Given the description of an element on the screen output the (x, y) to click on. 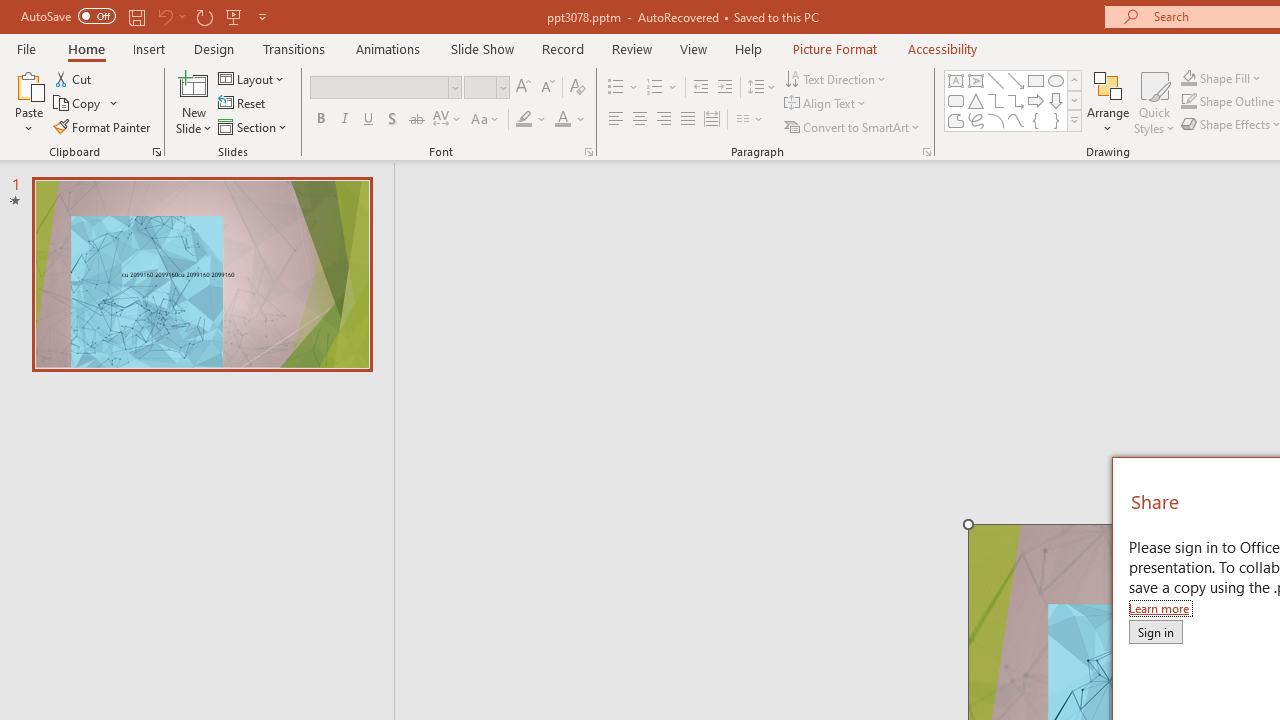
Shape Fill Dark Green, Accent 2 (1188, 78)
